Given the description of an element on the screen output the (x, y) to click on. 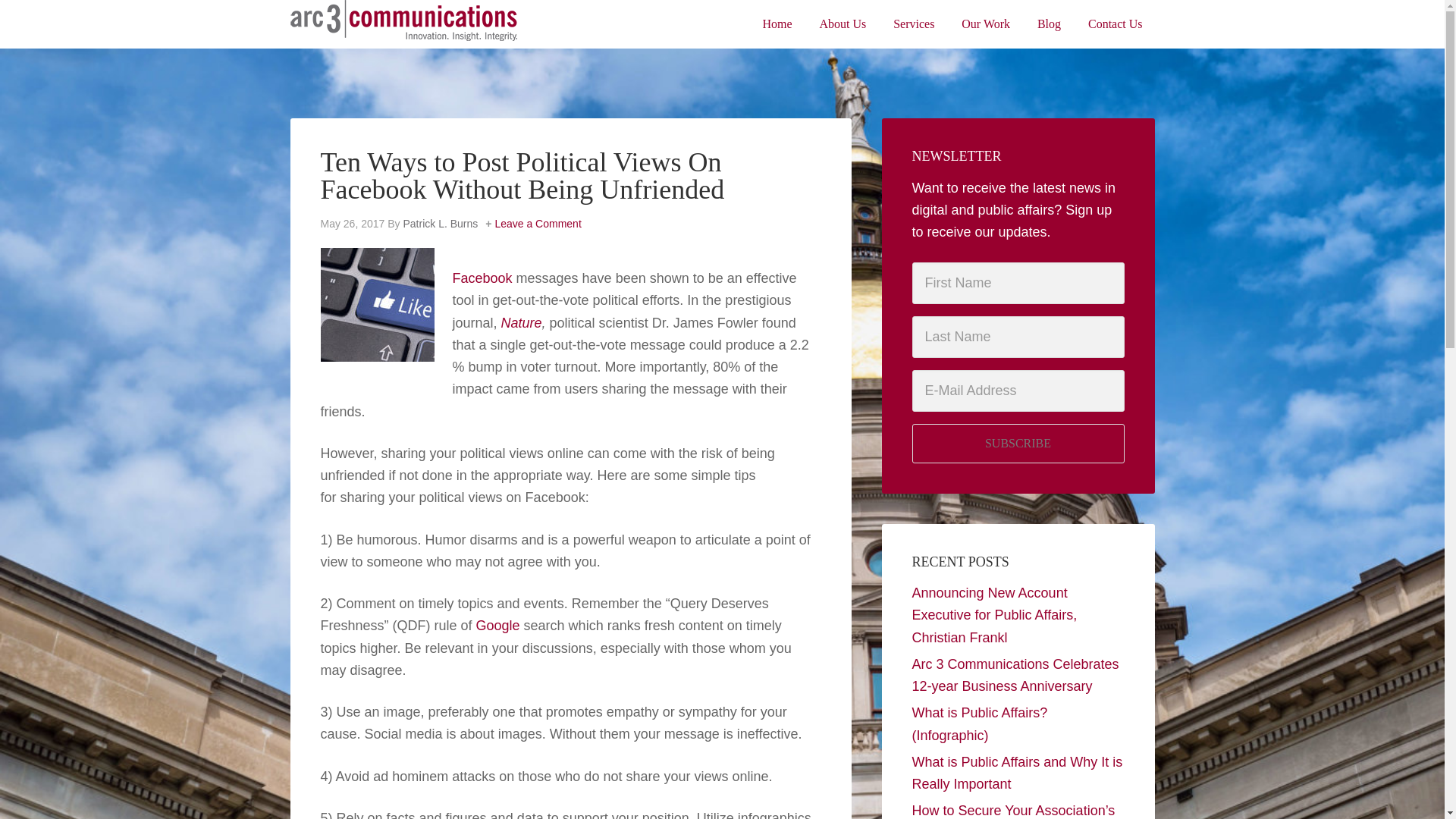
Subscribe  (1017, 443)
Services (913, 24)
Home (778, 24)
Patrick L. Burns (440, 223)
Leave a Comment (537, 223)
About Us (843, 24)
Google (497, 625)
Contact Us (1114, 24)
Facebook (481, 278)
Blog (1049, 24)
Our Work (985, 24)
Nature (520, 322)
ARC 3 COMMUNICATIONS (402, 22)
